Given the description of an element on the screen output the (x, y) to click on. 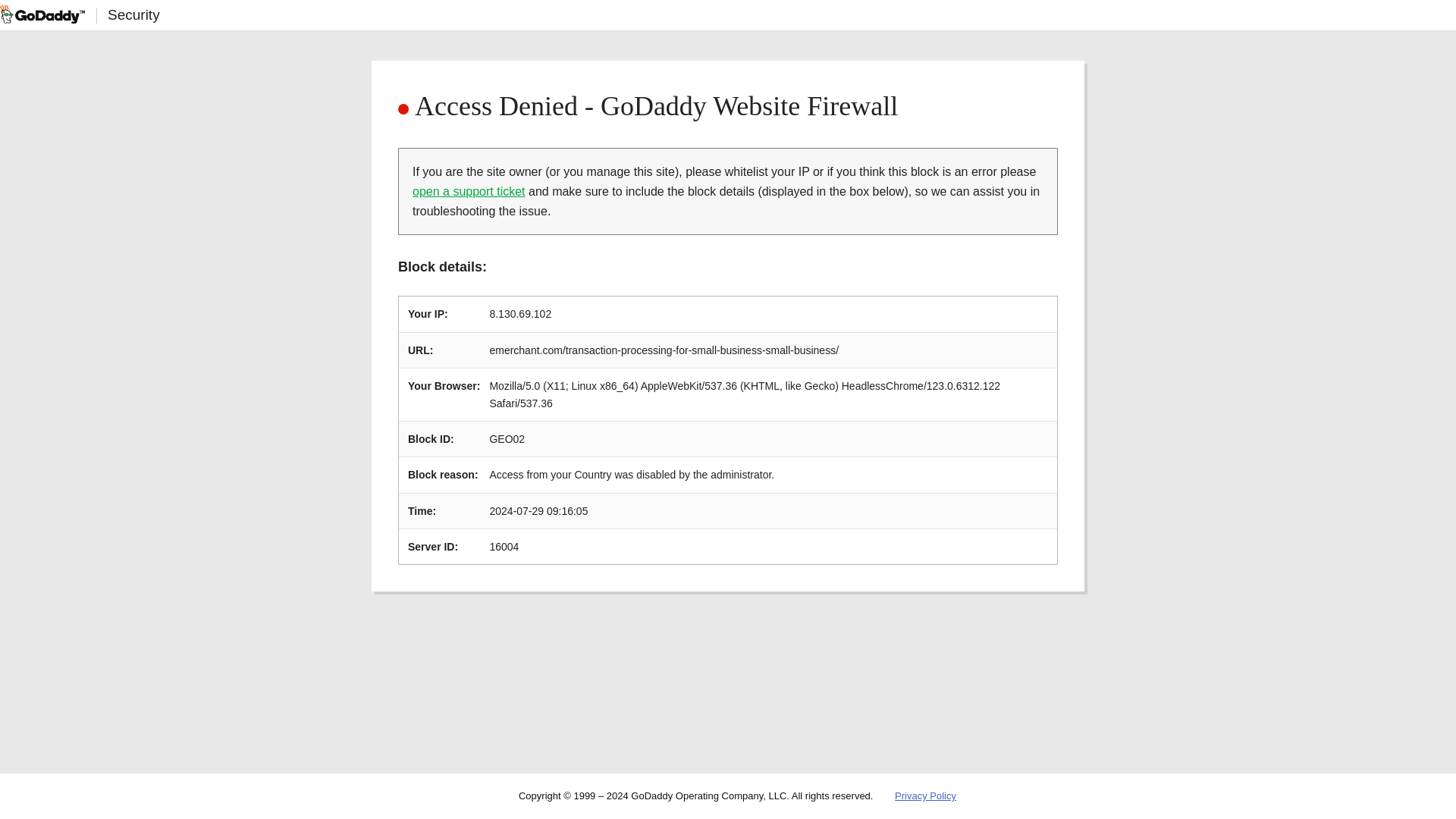
Privacy Policy (925, 795)
open a support ticket (468, 191)
